Given the description of an element on the screen output the (x, y) to click on. 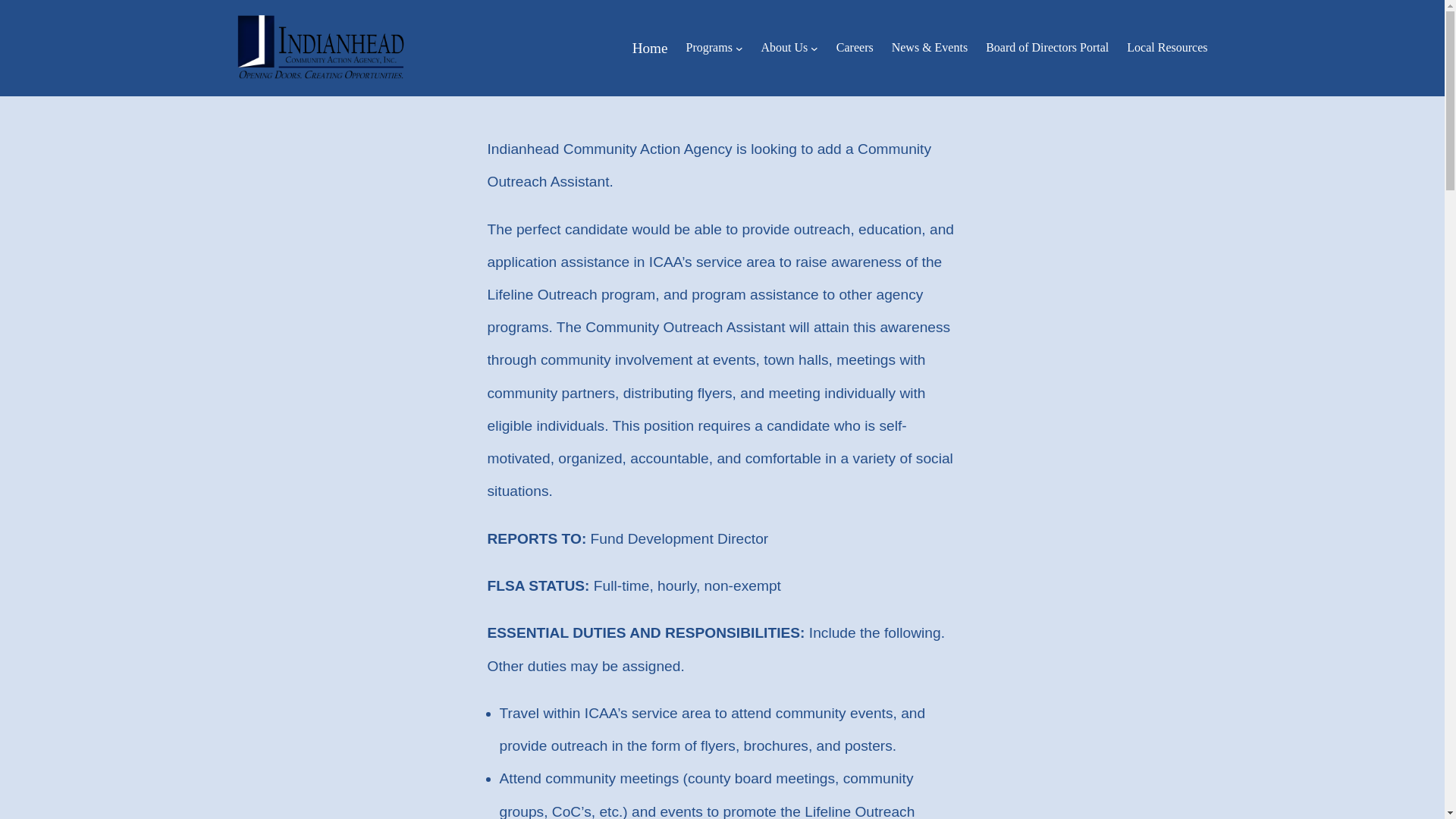
Home (649, 47)
Local Resources (1166, 47)
Board of Directors Portal (1046, 47)
About Us (784, 47)
Programs (708, 47)
Careers (854, 47)
